Given the description of an element on the screen output the (x, y) to click on. 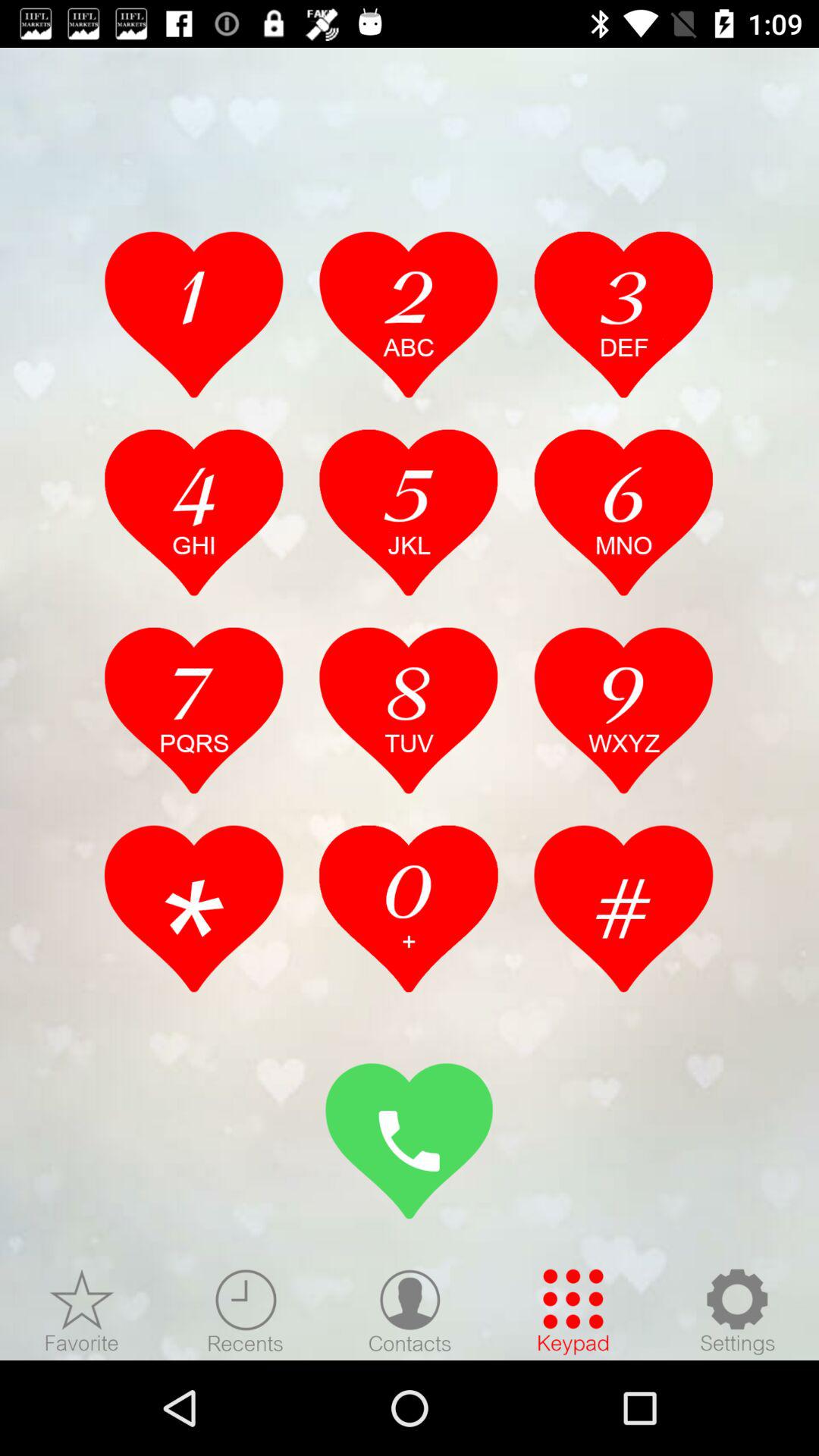
the digit one heart button (194, 314)
